Given the description of an element on the screen output the (x, y) to click on. 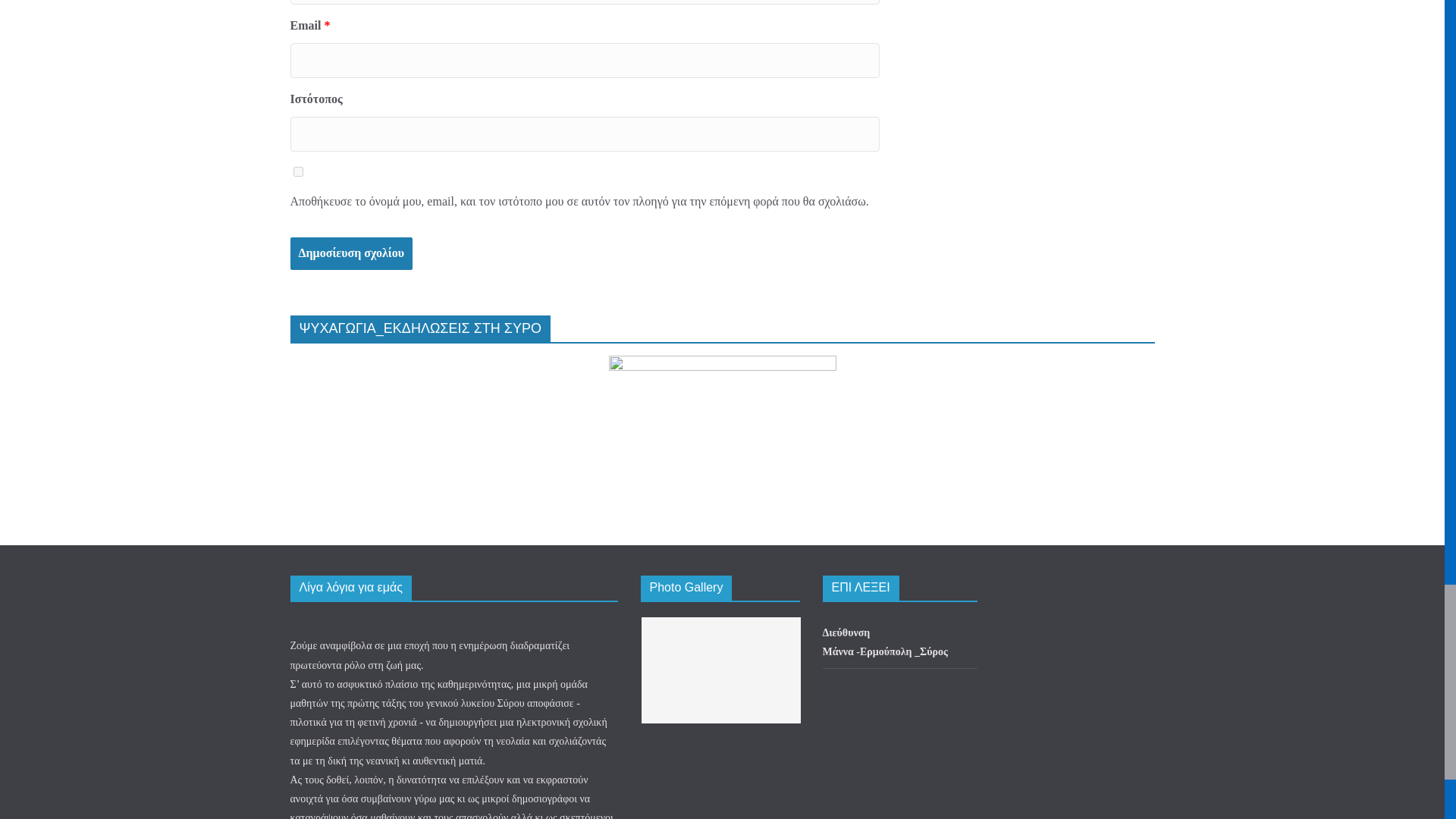
yes (297, 171)
